Given the description of an element on the screen output the (x, y) to click on. 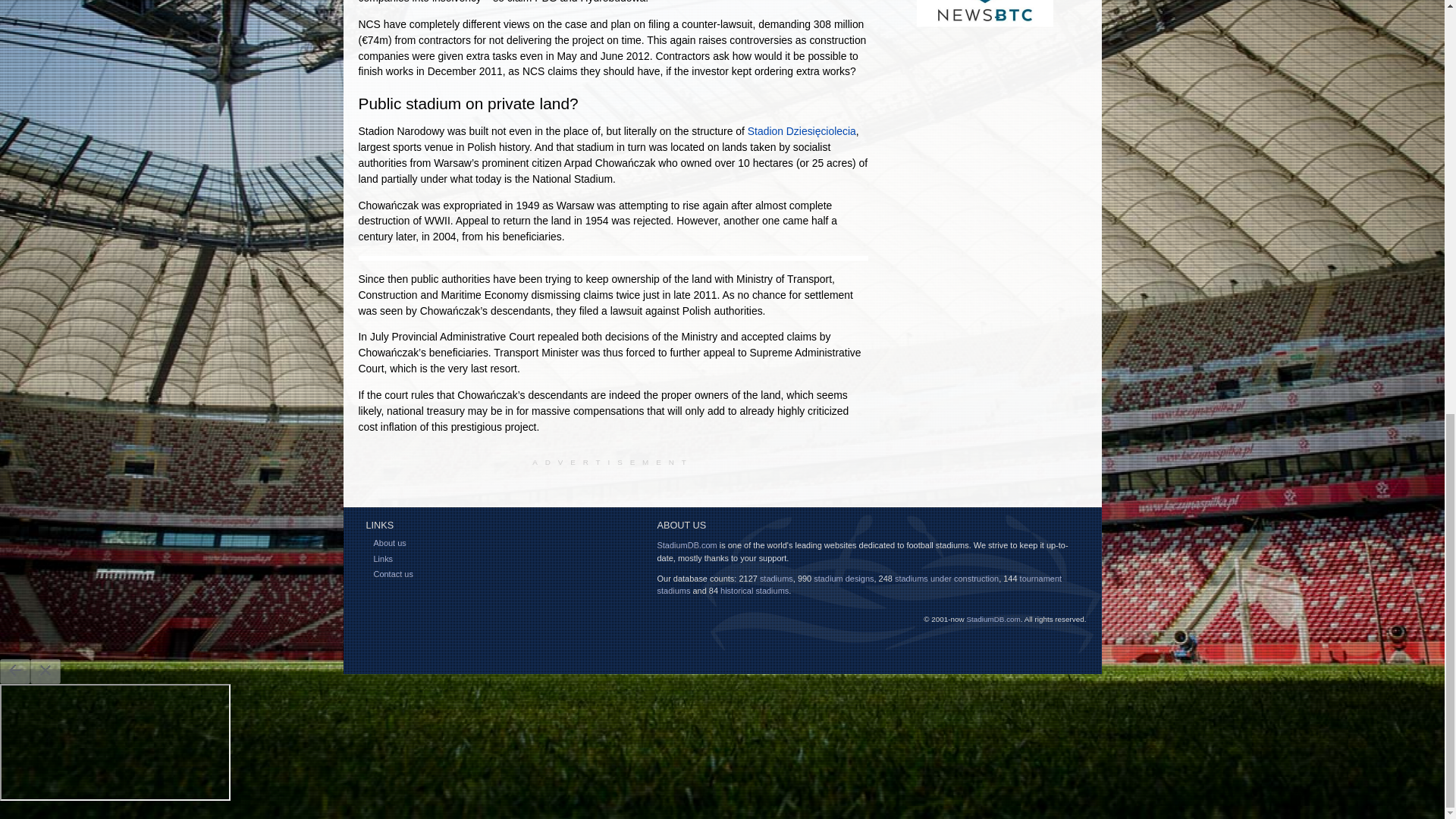
StadiumDB.com (686, 544)
